Given the description of an element on the screen output the (x, y) to click on. 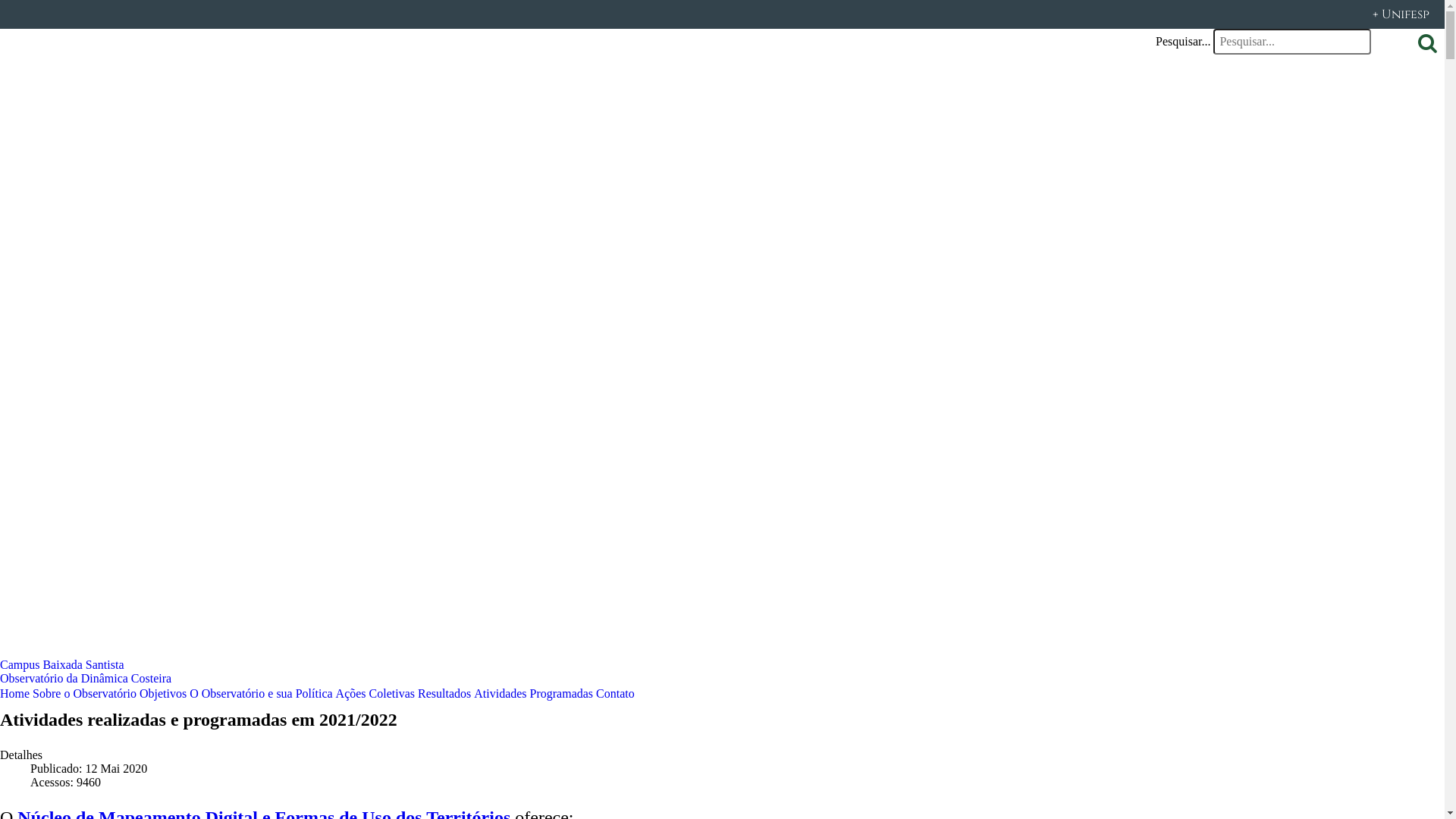
Atividades Programadas Element type: text (533, 692)
+ Unifesp Element type: text (722, 14)
Contato Element type: text (615, 692)
Home Element type: text (14, 692)
Objetivos Element type: text (162, 692)
Resultados Element type: text (443, 692)
